Given the description of an element on the screen output the (x, y) to click on. 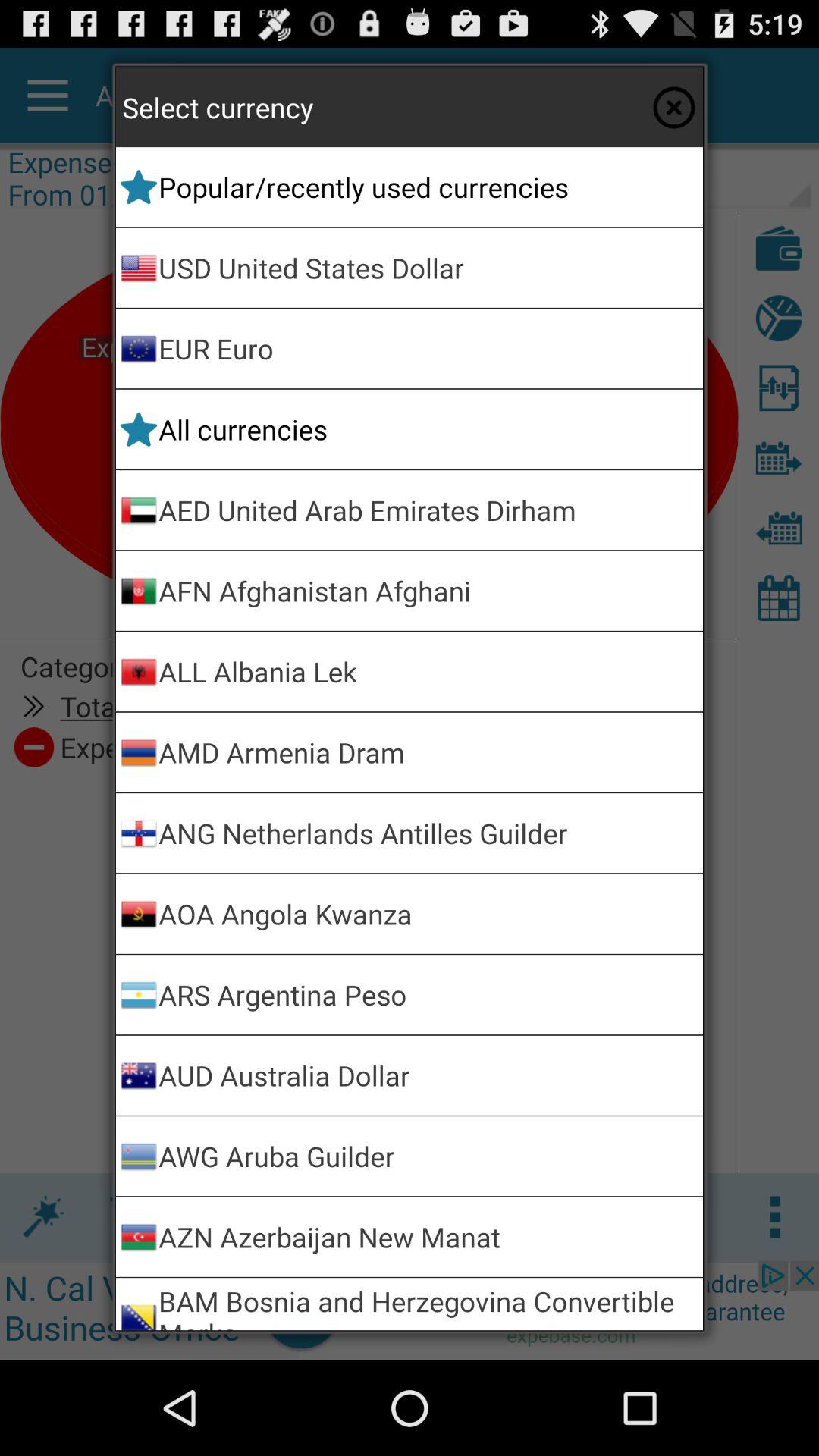
launch app above the all currencies icon (427, 348)
